Given the description of an element on the screen output the (x, y) to click on. 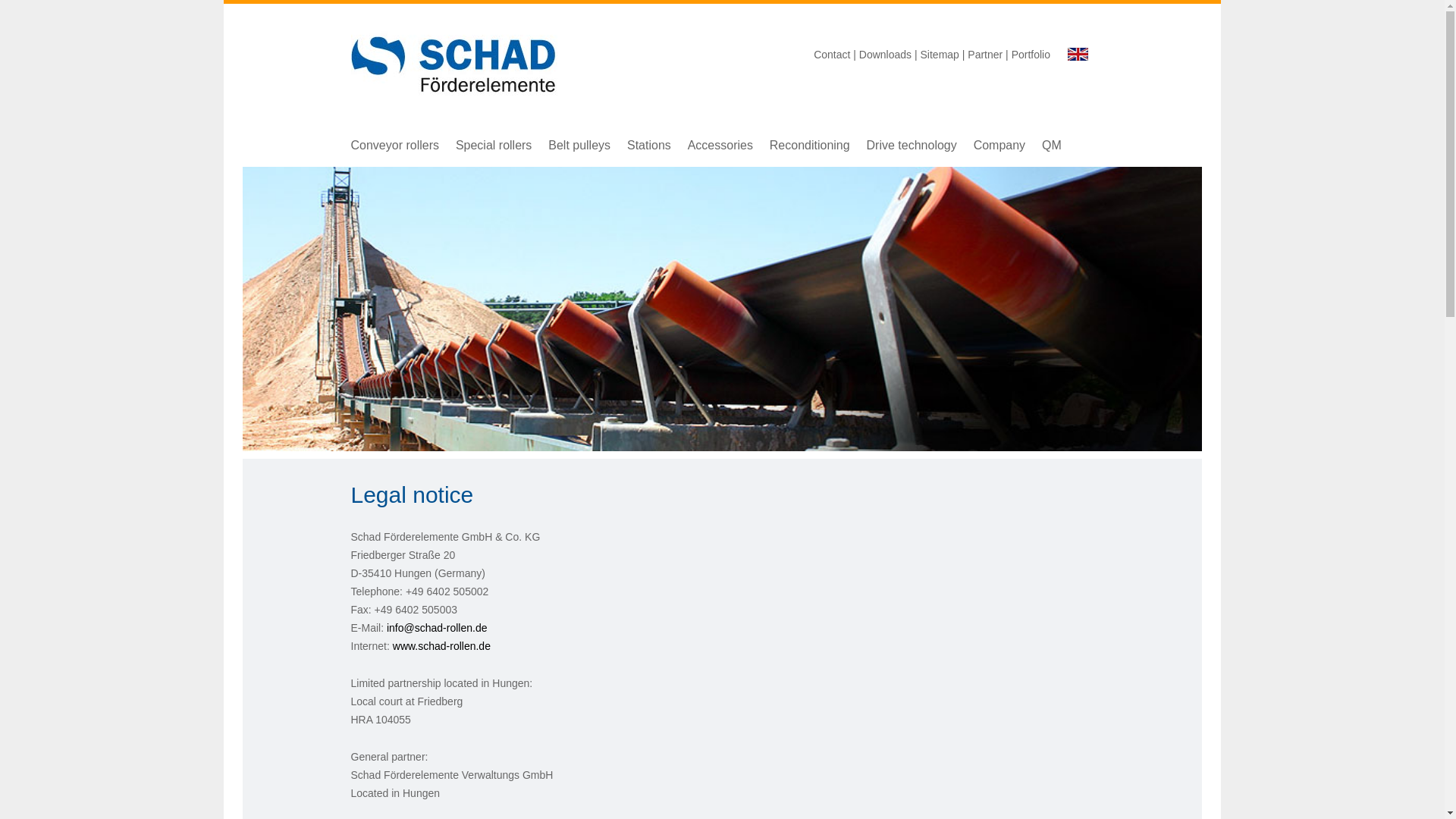
Special rollers (493, 144)
www.schad-rollen.de (441, 645)
Conveyor rollers (394, 144)
Stations (649, 144)
Belt pulleys (579, 144)
Accessories (719, 144)
